Given the description of an element on the screen output the (x, y) to click on. 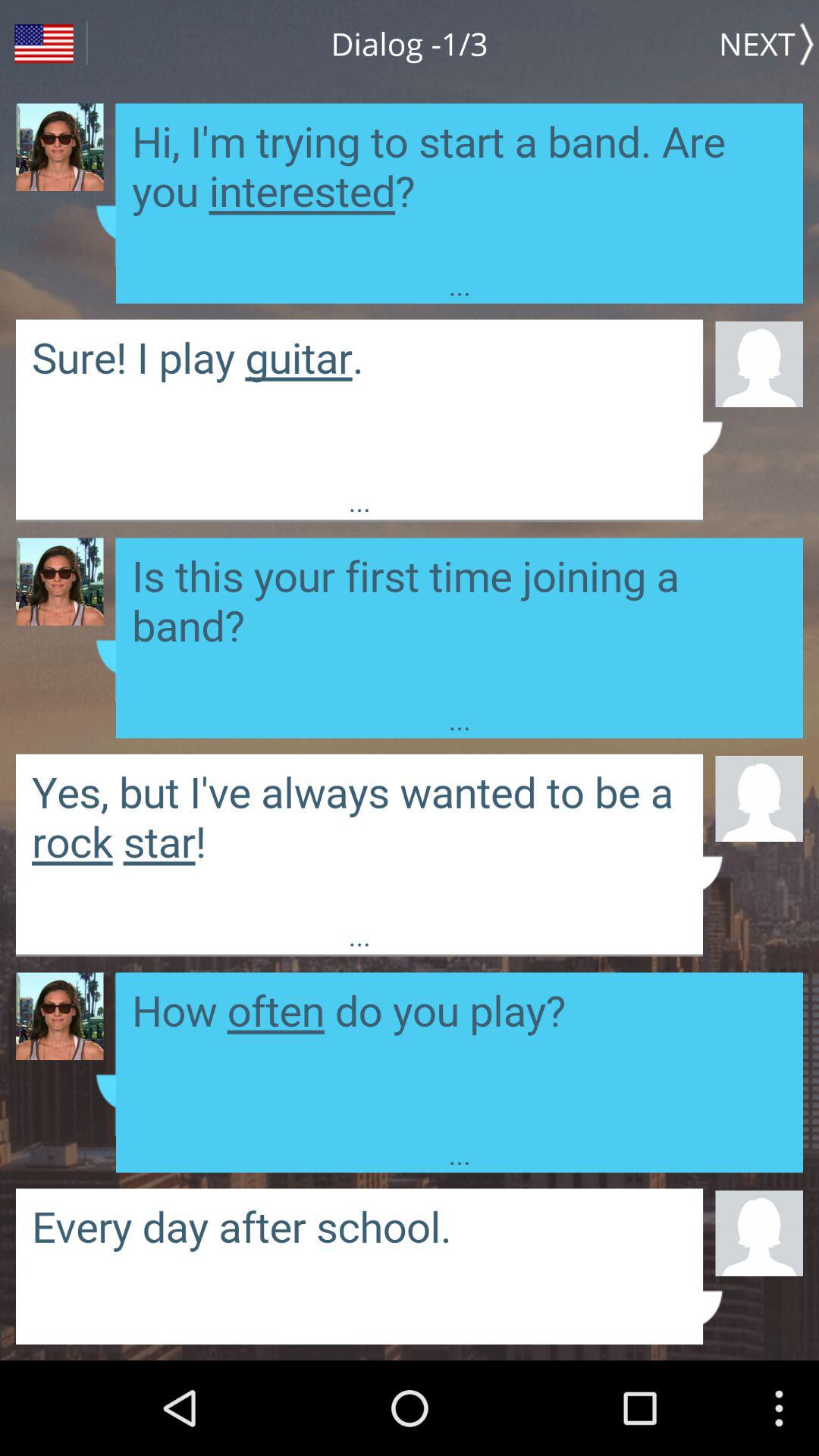
expand message (459, 619)
